Given the description of an element on the screen output the (x, y) to click on. 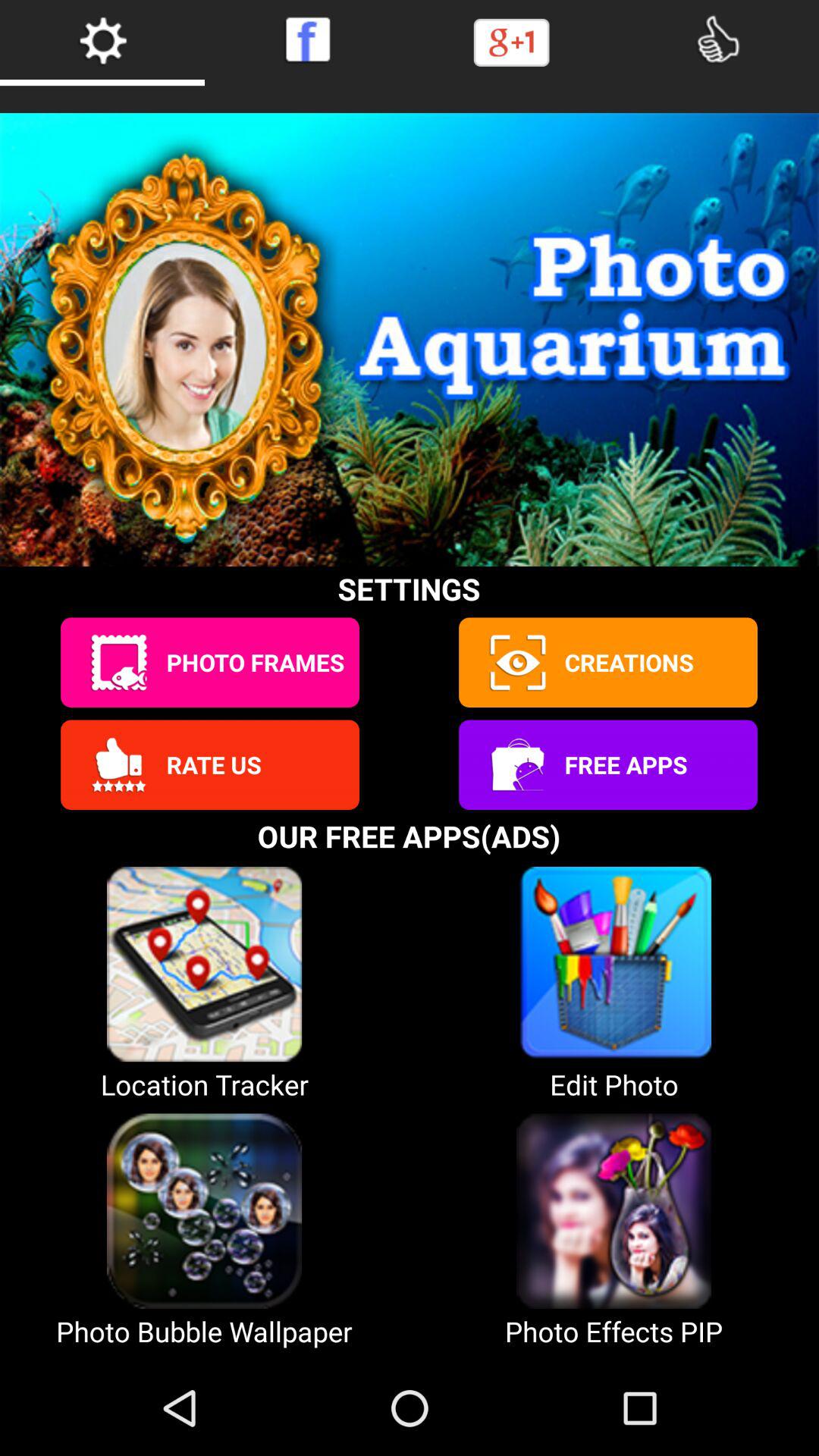
select photo frame (118, 662)
